Given the description of an element on the screen output the (x, y) to click on. 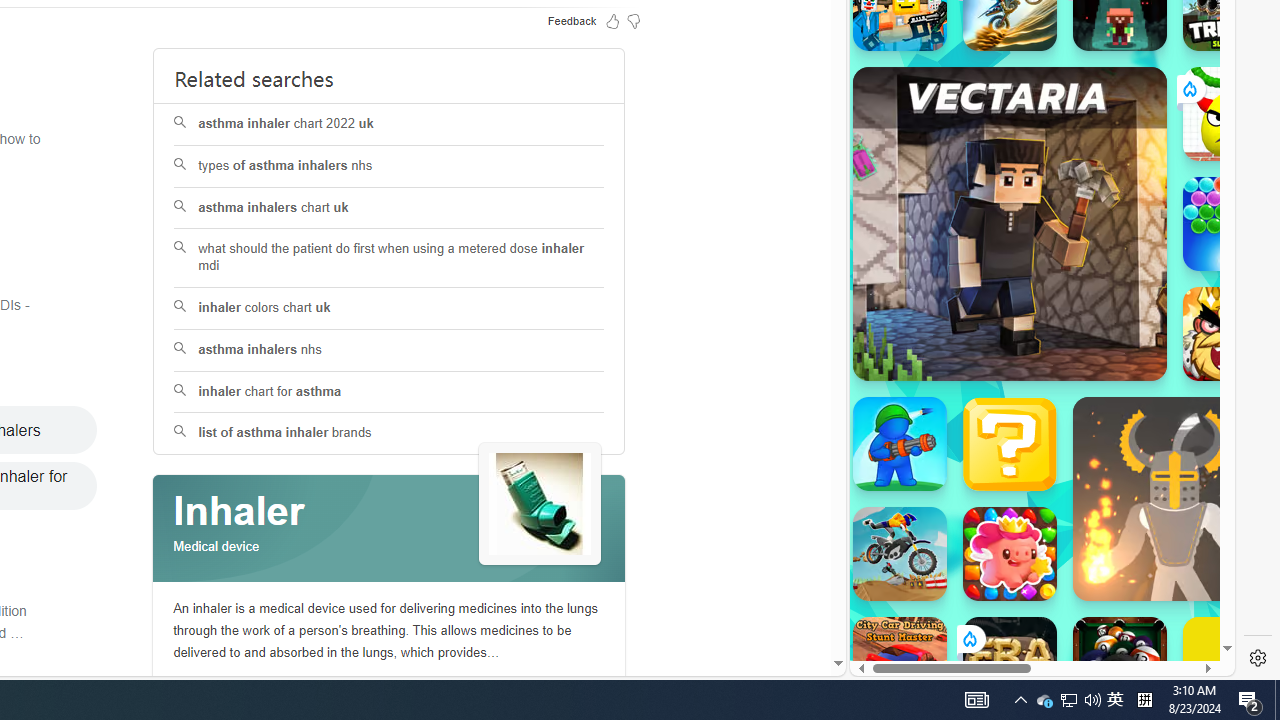
Class: spl_logobg (389, 529)
Feedback Like (612, 20)
Vectaria.io (1009, 223)
Draw To Smash: Logic Puzzle (1229, 113)
Hills of Steel (943, 300)
Crazy Cars (1217, 290)
AutomationID: mfa_root (762, 603)
Era: Evolution Era: Evolution (1009, 664)
inhaler colors chart uk (389, 308)
Draw To Smash: Logic Puzzle Draw To Smash: Logic Puzzle (1229, 113)
Poki (1034, 606)
Combat Reloaded (1090, 290)
Hills of Steel (925, 290)
Era: Evolution (1009, 664)
